Given the description of an element on the screen output the (x, y) to click on. 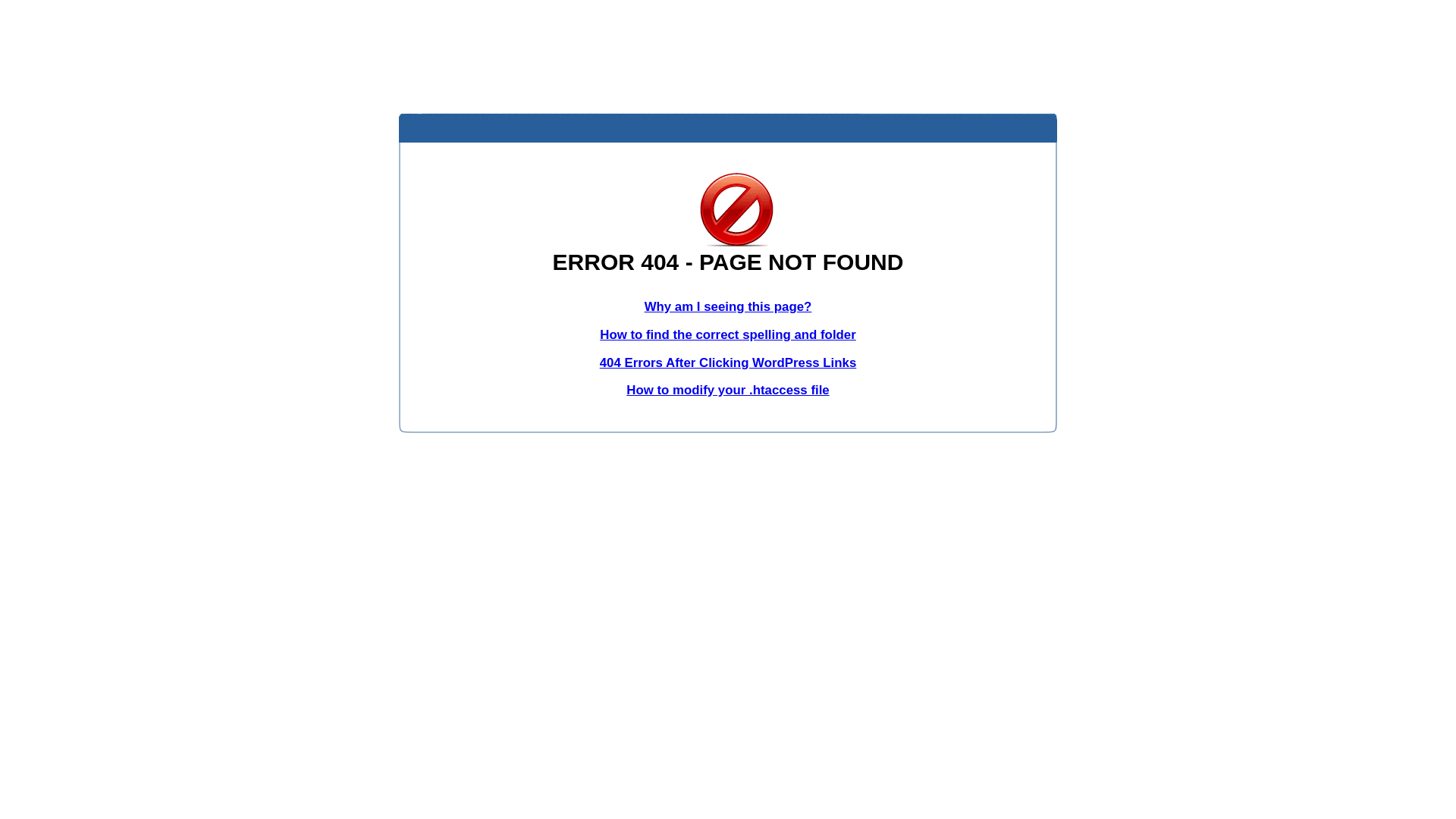
404 Errors After Clicking WordPress Links Element type: text (727, 362)
How to find the correct spelling and folder Element type: text (727, 334)
How to modify your .htaccess file Element type: text (727, 389)
Why am I seeing this page? Element type: text (728, 306)
